Given the description of an element on the screen output the (x, y) to click on. 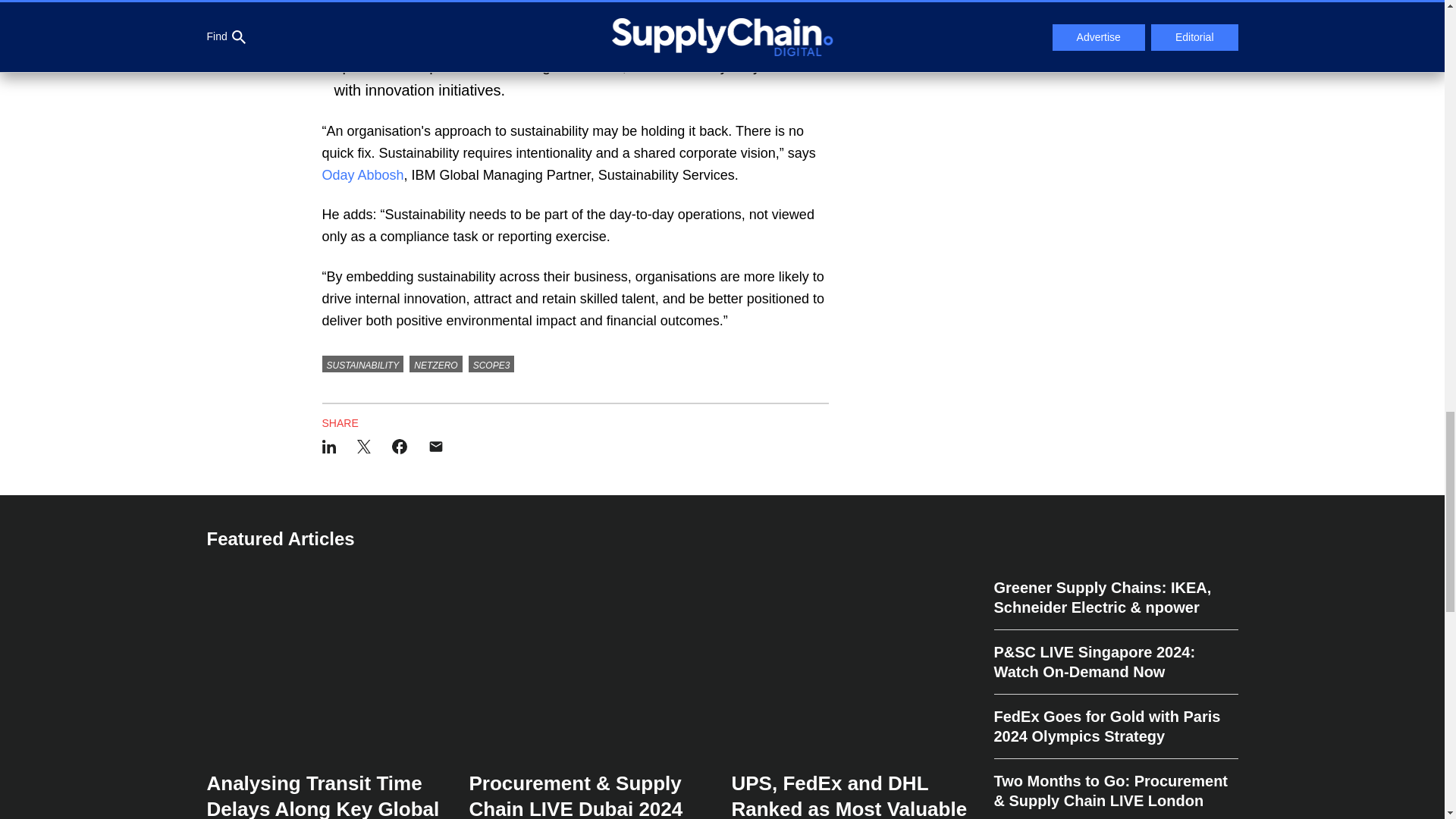
FedEx Goes for Gold with Paris 2024 Olympics Strategy (1114, 726)
SUSTAINABILITY (362, 363)
NETZERO (435, 363)
Oday Abbosh (362, 174)
SCOPE3 (491, 363)
